Given the description of an element on the screen output the (x, y) to click on. 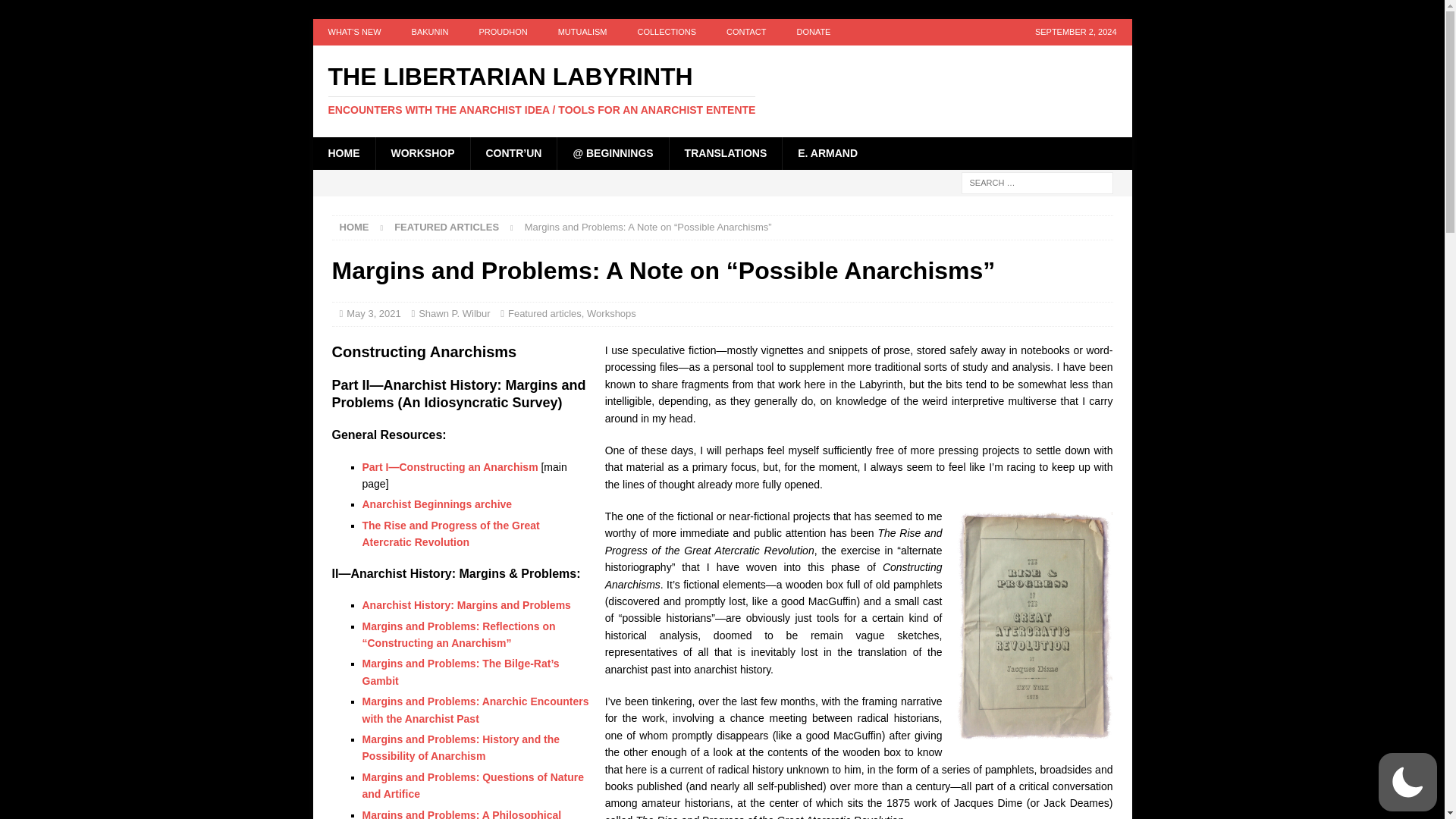
E. ARMAND (826, 152)
May 3, 2021 (373, 313)
Home (354, 226)
BAKUNIN (430, 31)
COLLECTIONS (666, 31)
Shawn P. Wilbur (454, 313)
PROUDHON (502, 31)
Search (56, 11)
FEATURED ARTICLES (446, 226)
WORKSHOP (421, 152)
